Given the description of an element on the screen output the (x, y) to click on. 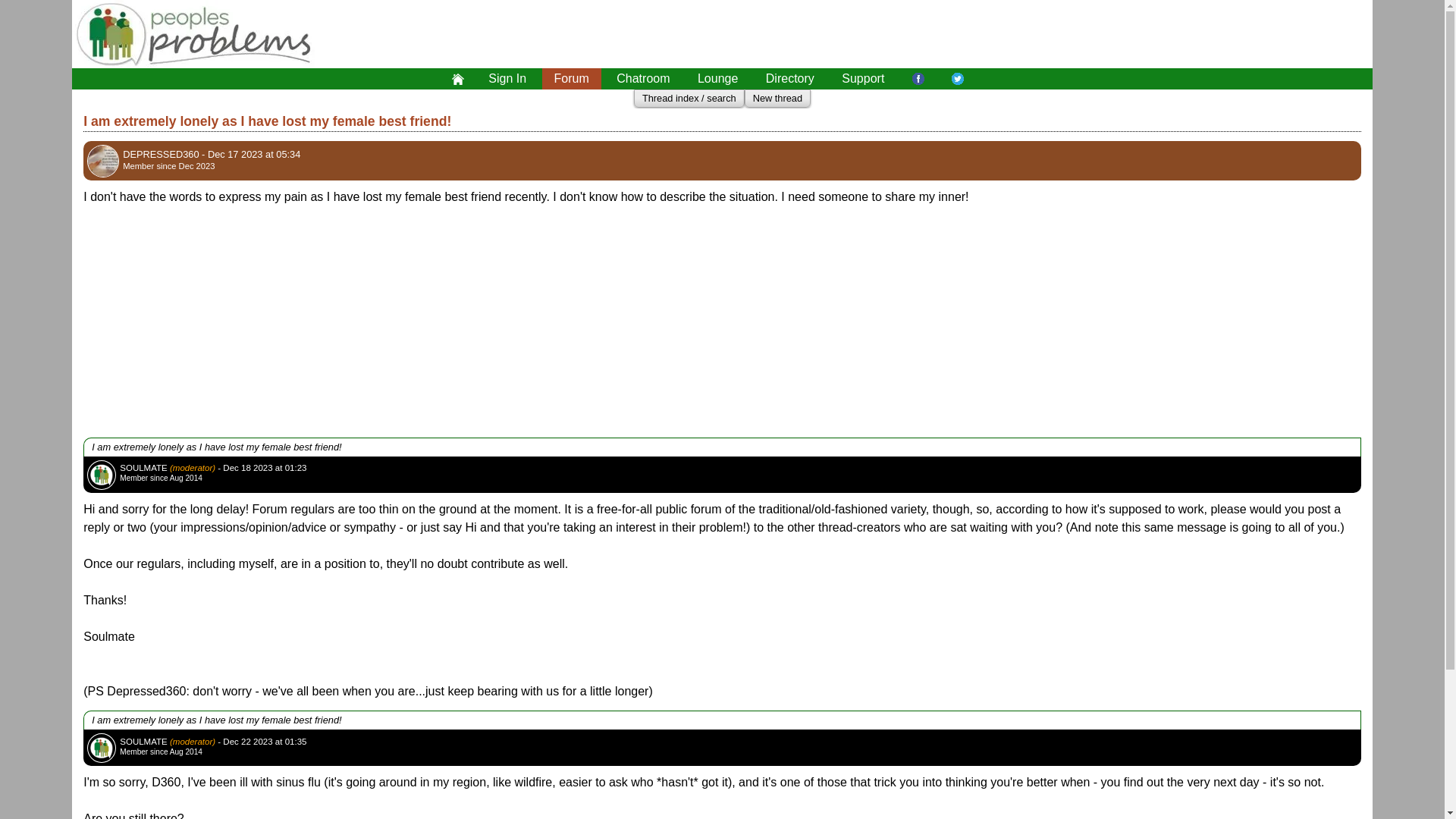
Sign In (507, 78)
Forum (571, 78)
New thread (777, 98)
Advertisement (939, 33)
Chatroom (642, 78)
Support (862, 78)
Directory (790, 78)
Lounge (717, 78)
